Given the description of an element on the screen output the (x, y) to click on. 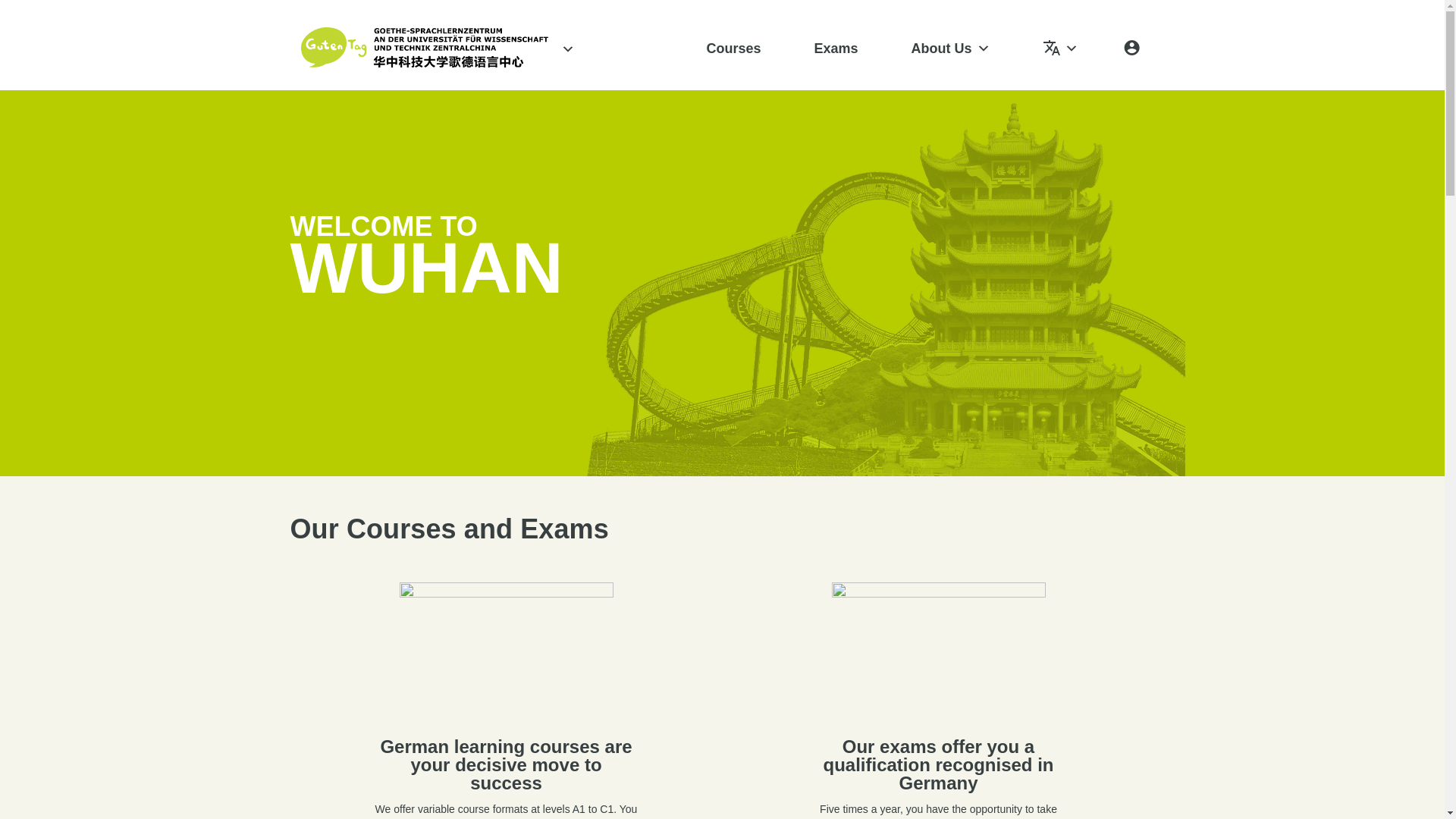
Exams (834, 48)
About Us (951, 48)
Courses (733, 48)
